Given the description of an element on the screen output the (x, y) to click on. 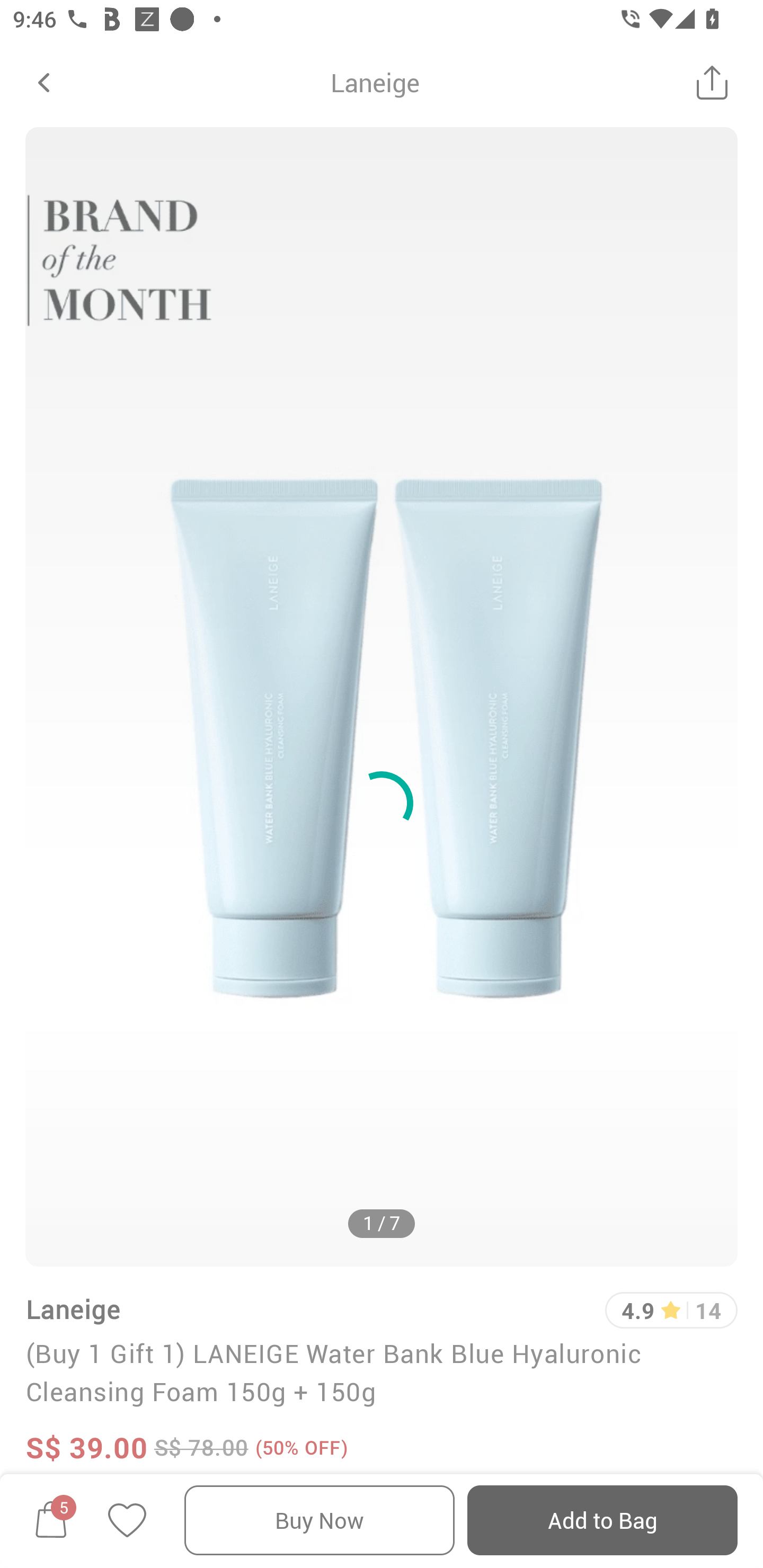
Laneige (375, 82)
Share this Product (711, 82)
Laneige (72, 1309)
4.9 14 (671, 1310)
Buy Now (319, 1519)
Add to Bag (601, 1519)
5 (50, 1520)
